Given the description of an element on the screen output the (x, y) to click on. 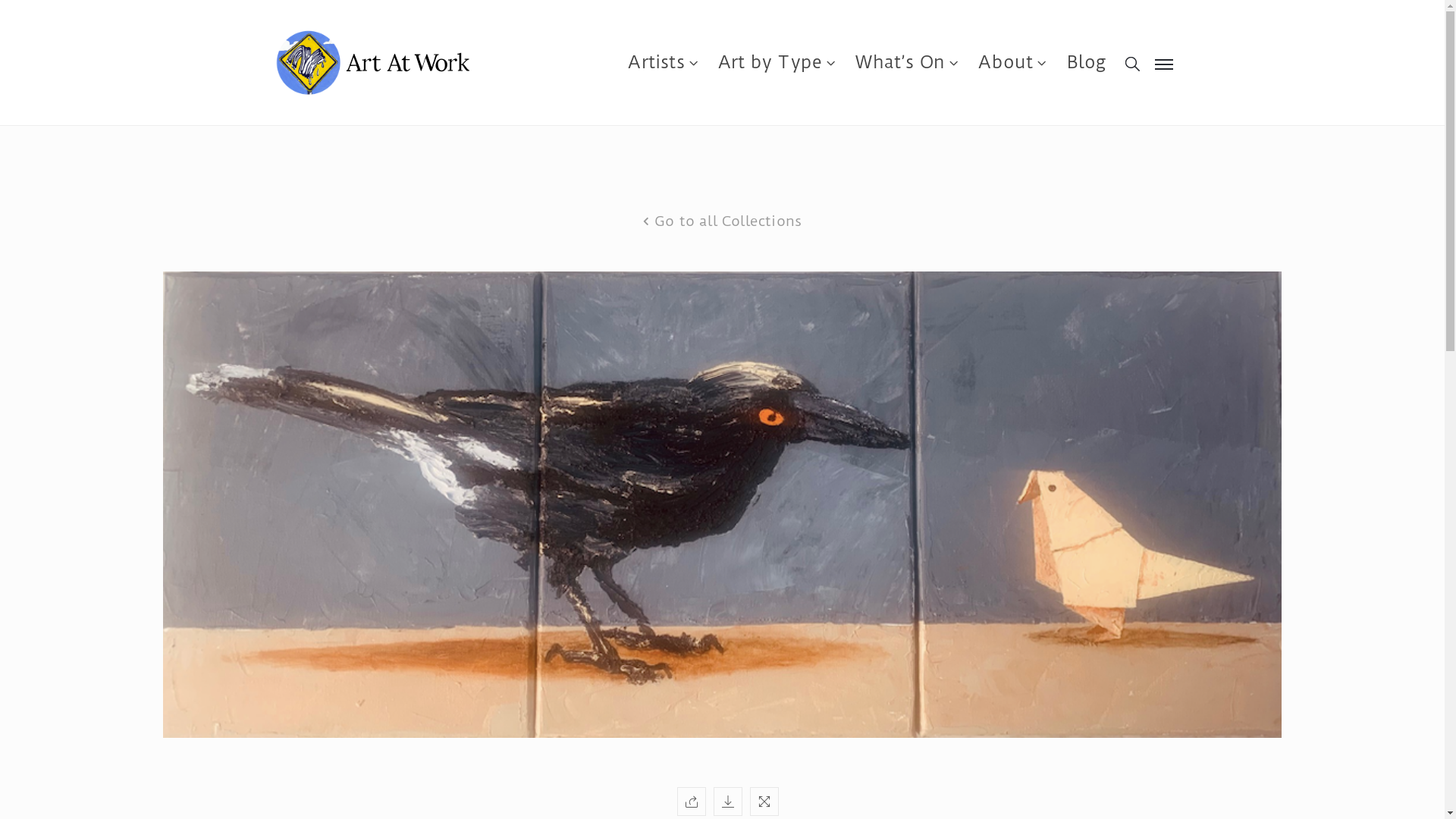
About Element type: text (1013, 62)
Blog Element type: text (1086, 62)
Search Element type: text (1039, 409)
Go to all Collections Element type: text (722, 221)
Art by Type Element type: text (778, 62)
Artists Element type: text (664, 62)
